Given the description of an element on the screen output the (x, y) to click on. 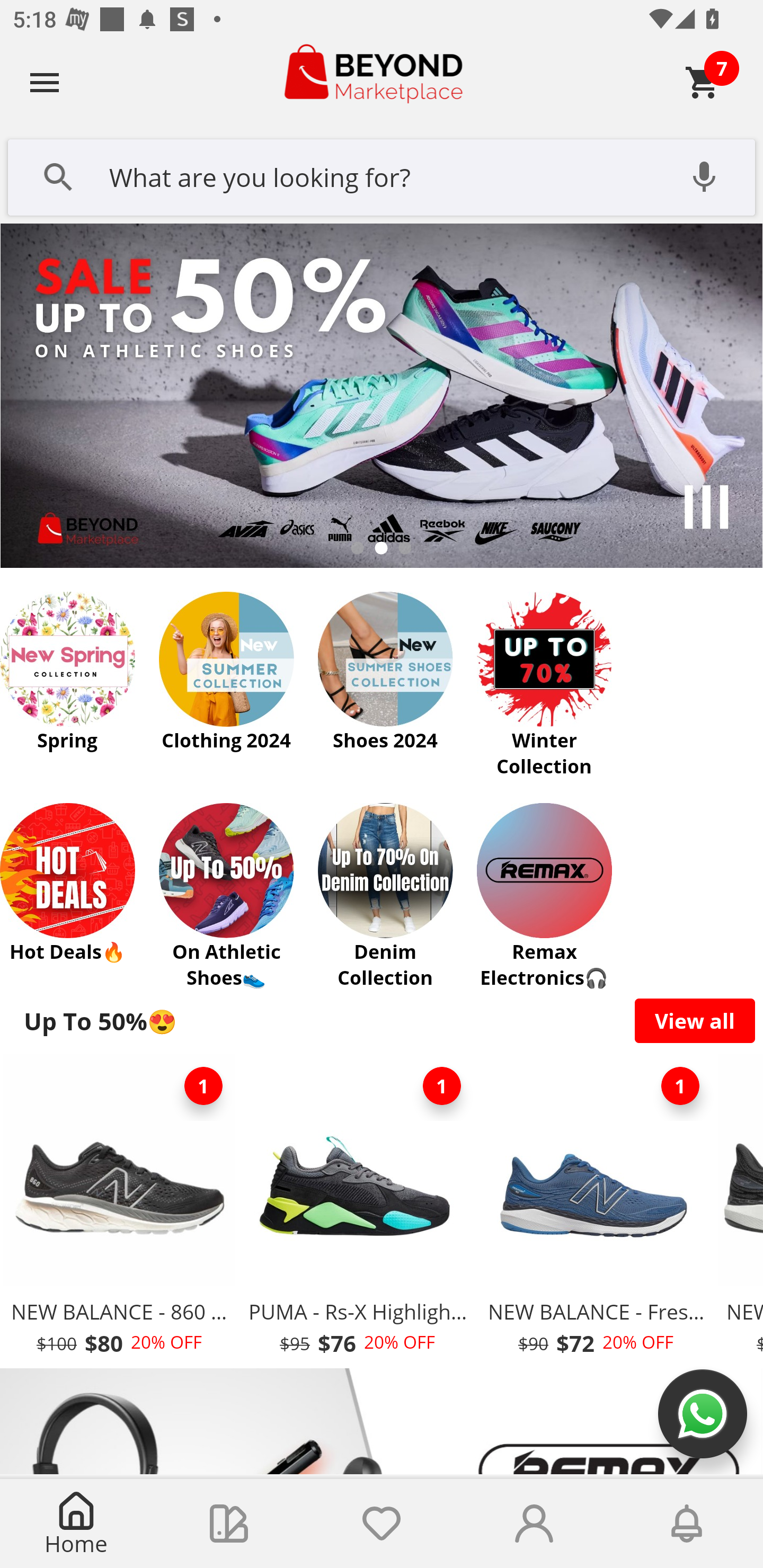
Navigate up (44, 82)
What are you looking for? (381, 175)
View all (694, 1020)
1 NEW BALANCE - 860 Running Shoes $100 $80 20% OFF (119, 1209)
1 (203, 1085)
1 (441, 1085)
1 (680, 1085)
Collections (228, 1523)
Wishlist (381, 1523)
Account (533, 1523)
Notifications (686, 1523)
